Given the description of an element on the screen output the (x, y) to click on. 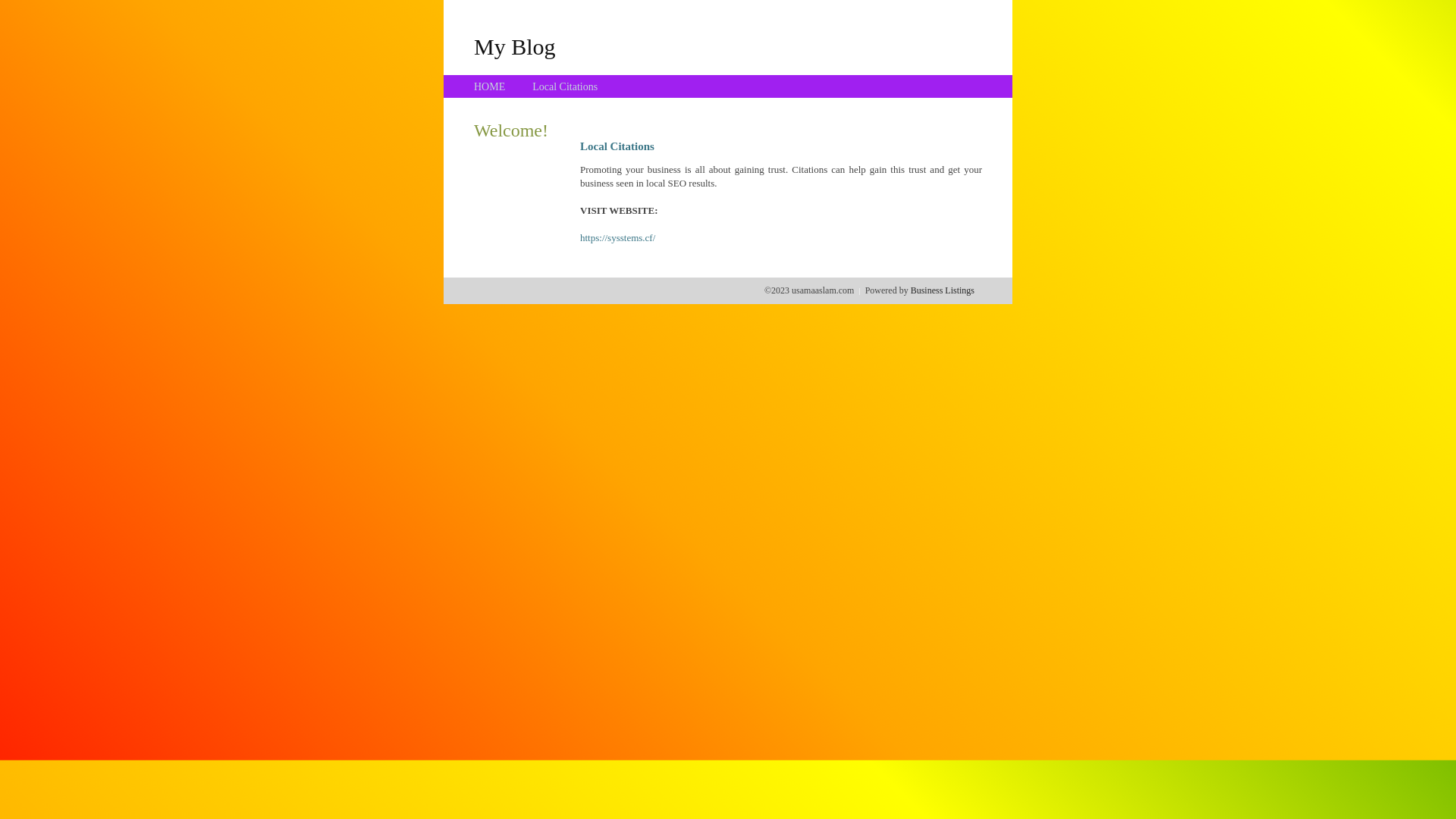
Business Listings Element type: text (942, 290)
https://sysstems.cf/ Element type: text (617, 237)
Local Citations Element type: text (564, 86)
HOME Element type: text (489, 86)
My Blog Element type: text (514, 46)
